Given the description of an element on the screen output the (x, y) to click on. 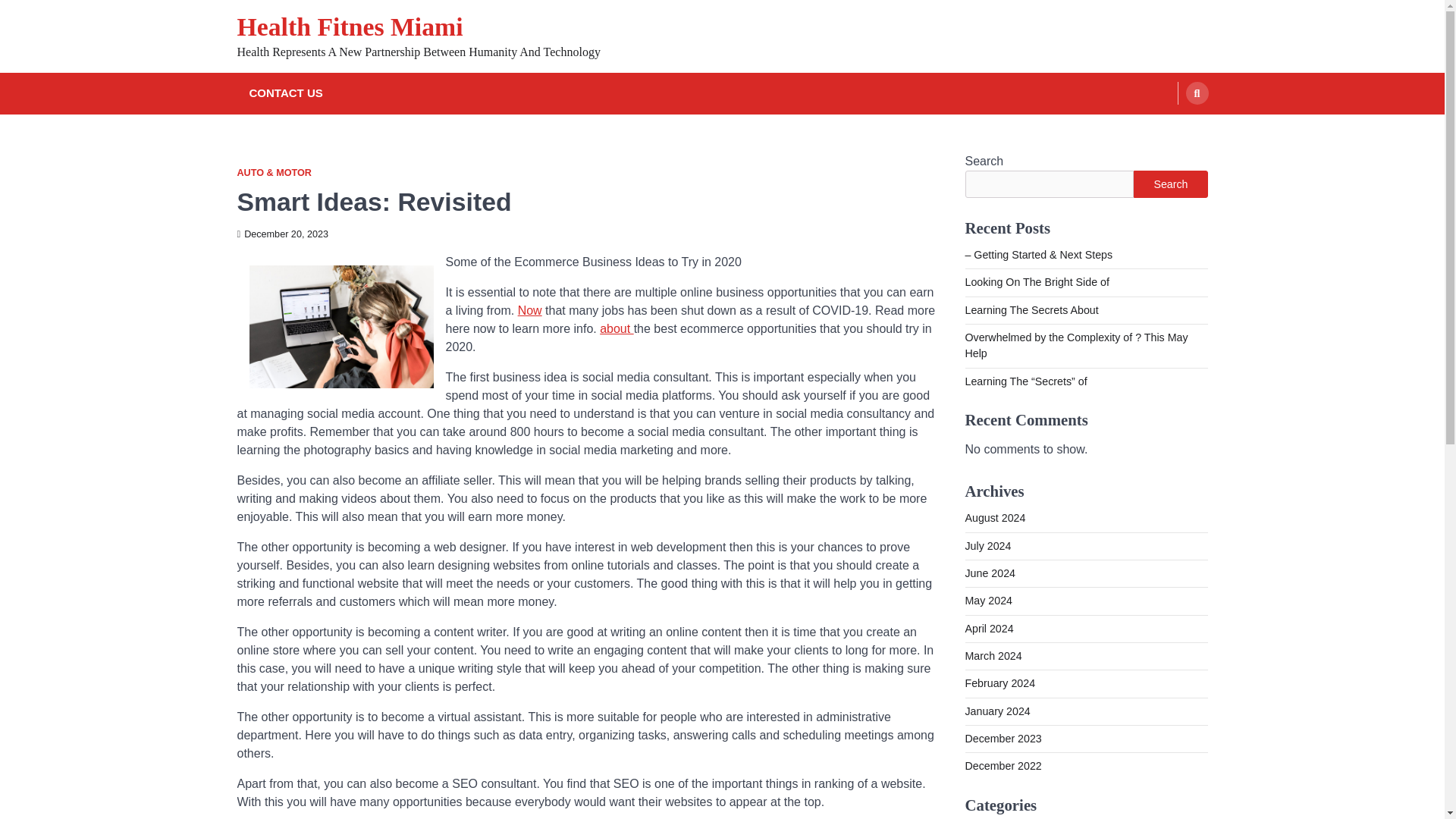
Now (529, 309)
April 2024 (988, 628)
February 2024 (999, 683)
CONTACT US (286, 93)
Search (1197, 92)
March 2024 (992, 655)
Search (1170, 184)
about (616, 328)
Looking On The Bright Side of (1035, 282)
December 20, 2023 (282, 234)
